Given the description of an element on the screen output the (x, y) to click on. 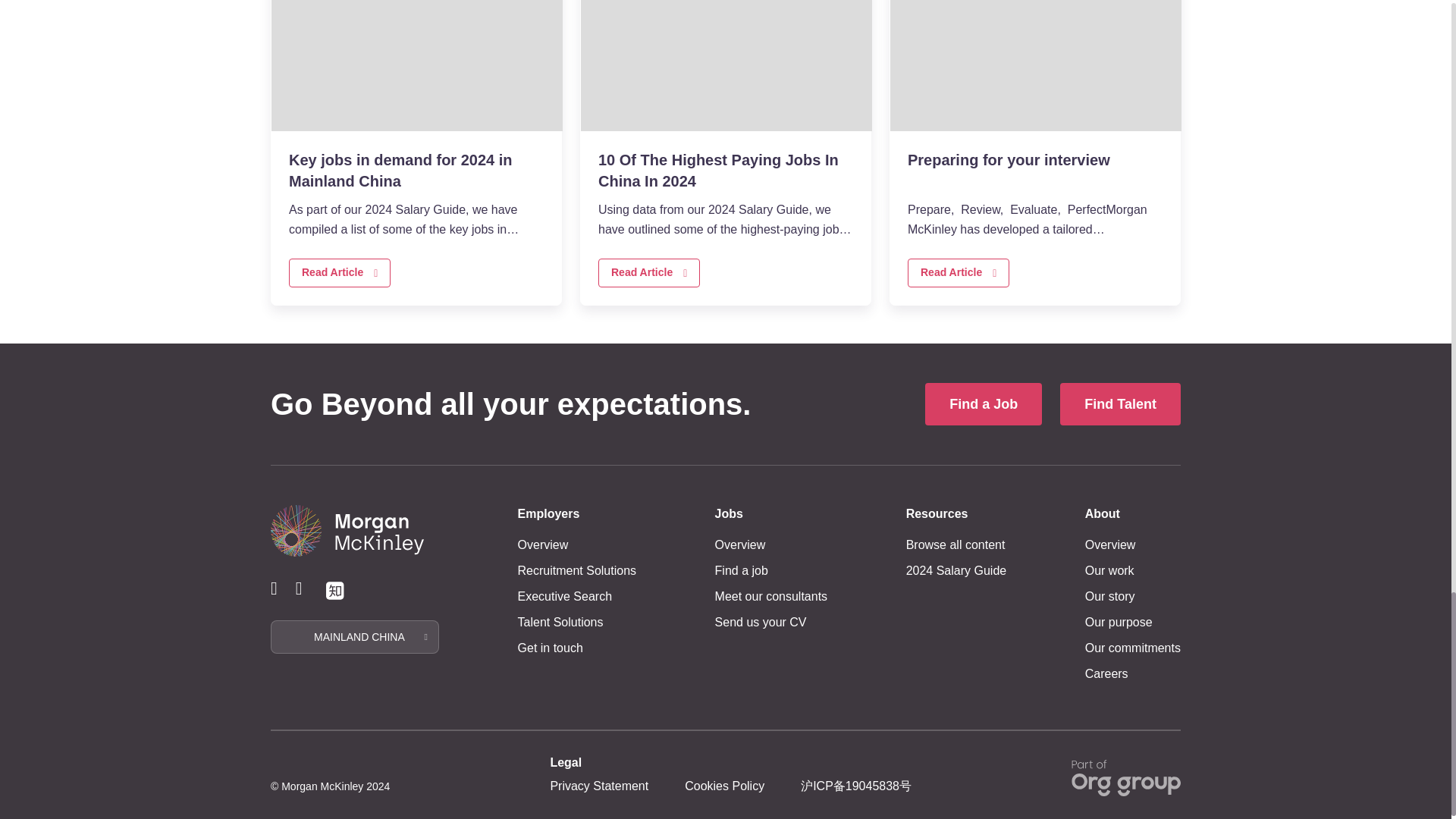
Preparing for your interview (1034, 65)
Key jobs in demand for 2024 in Mainland China (416, 65)
10 Of The Highest Paying Jobs In China In 2024 (726, 65)
